Given the description of an element on the screen output the (x, y) to click on. 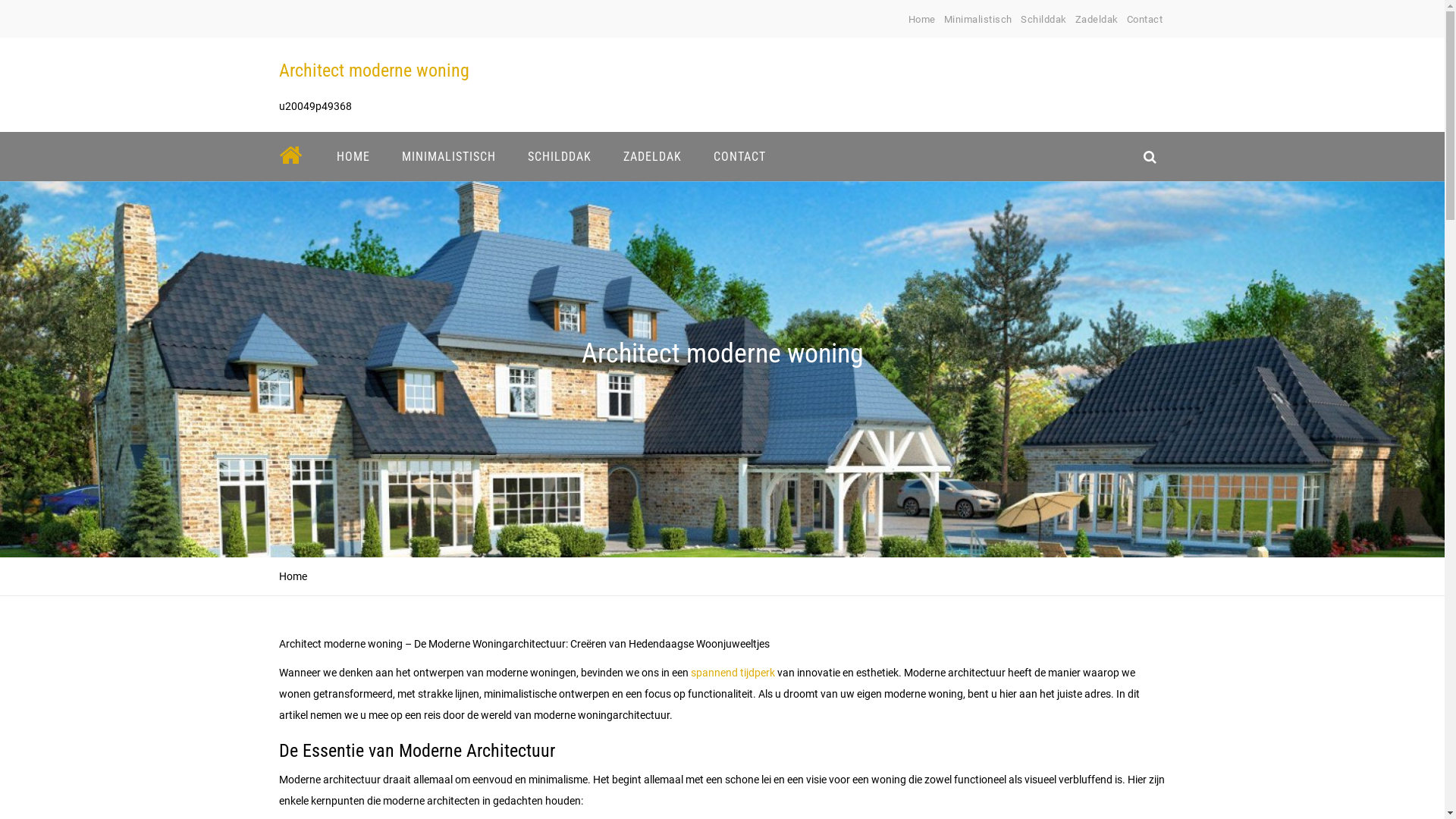
CONTACT Element type: text (739, 156)
spannend tijdperk Element type: text (732, 672)
MINIMALISTISCH Element type: text (448, 156)
Minimalistisch Element type: text (978, 19)
Home Element type: text (921, 19)
ZADELDAK Element type: text (651, 156)
Architect moderne woning Element type: text (374, 70)
search_icon Element type: hover (1148, 156)
SCHILDDAK Element type: text (558, 156)
HOME Element type: text (352, 156)
Zadeldak Element type: text (1096, 19)
Contact Element type: text (1144, 19)
Schilddak Element type: text (1043, 19)
